Given the description of an element on the screen output the (x, y) to click on. 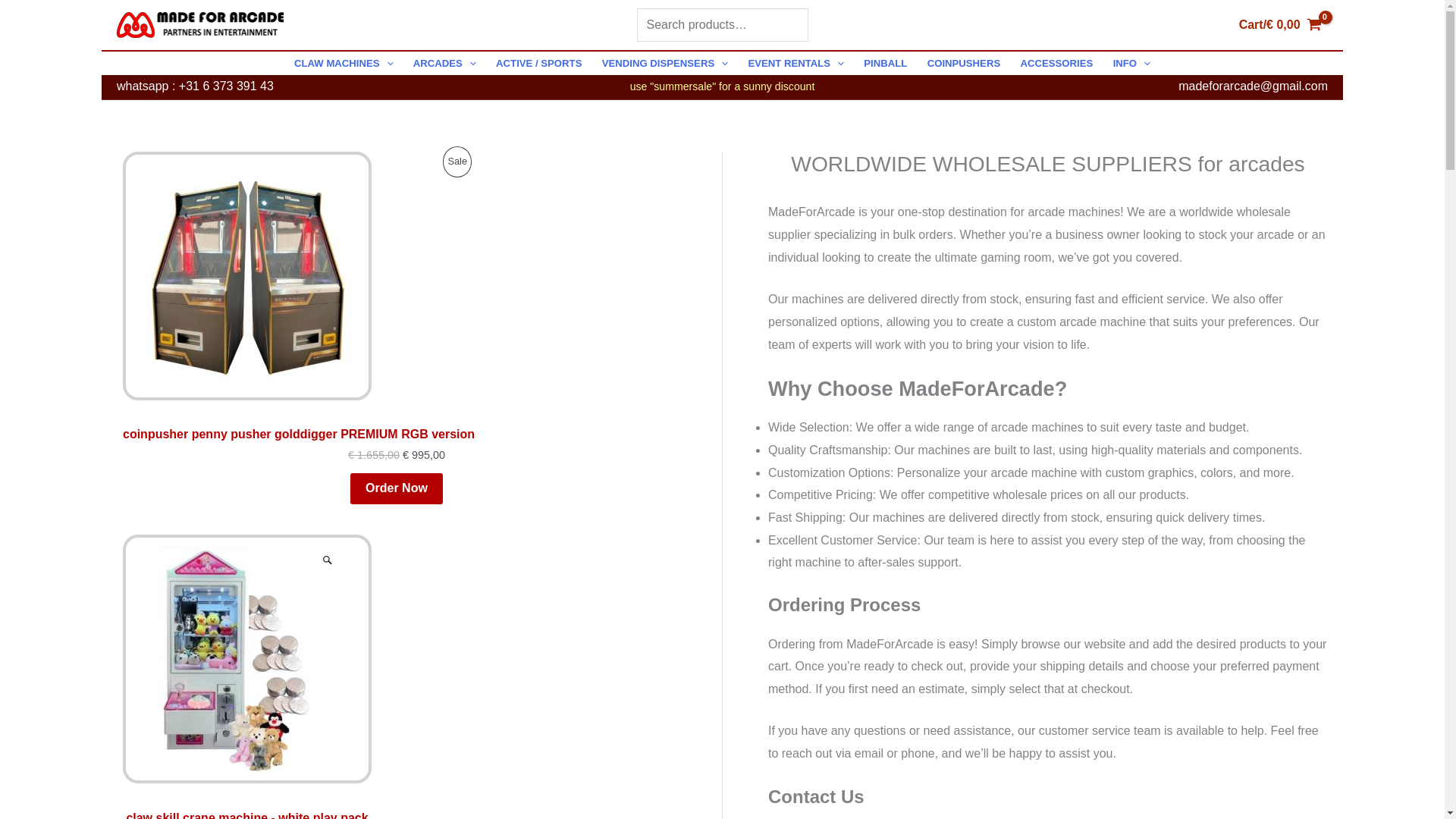
ARCADES (444, 63)
COINPUSHERS (963, 63)
CLAW MACHINES (343, 63)
ACCESSORIES (1056, 63)
INFO (1131, 63)
PINBALL (885, 63)
EVENT RENTALS (795, 63)
VENDING DISPENSERS (665, 63)
